Given the description of an element on the screen output the (x, y) to click on. 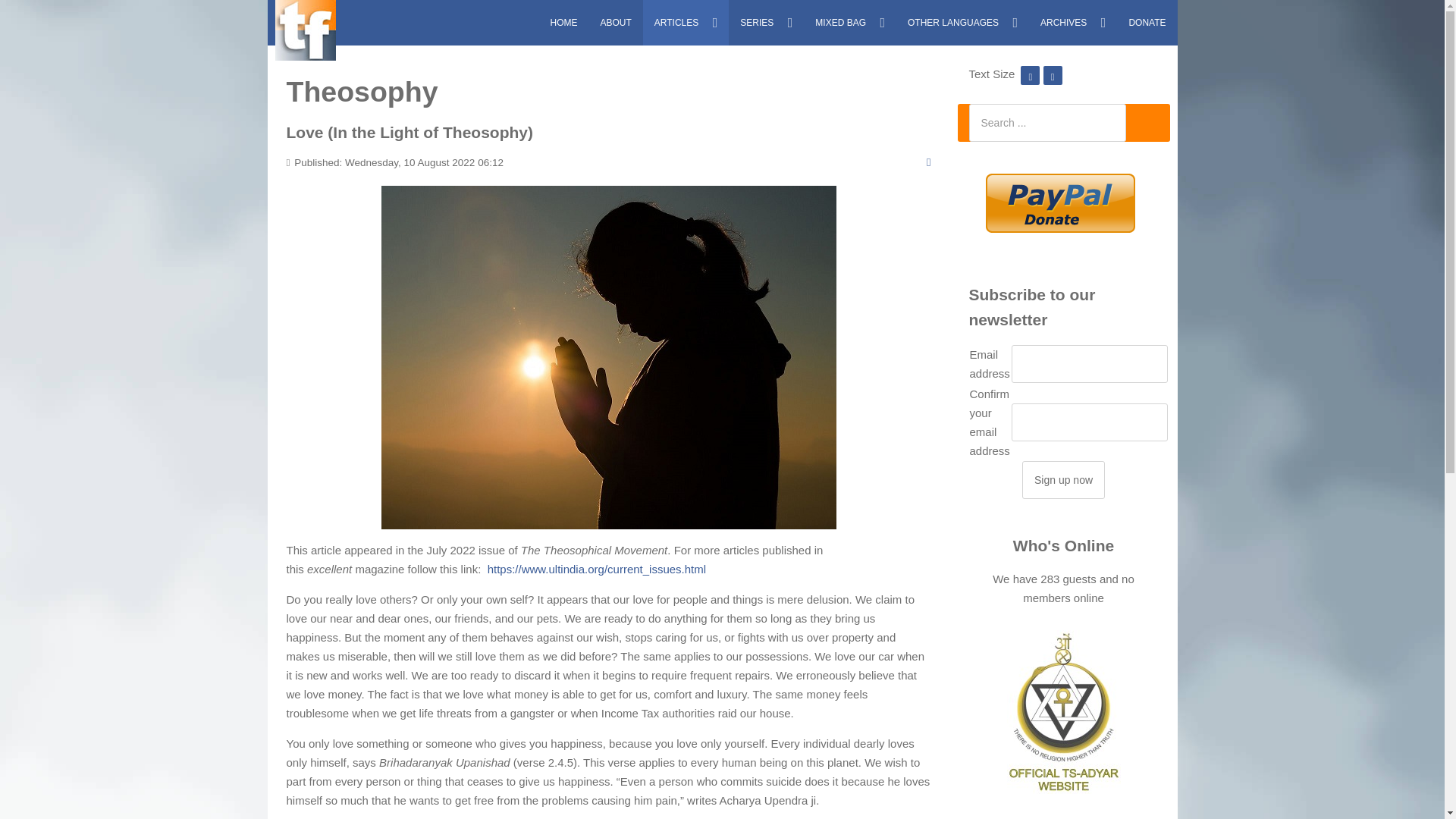
ARTICLES (686, 22)
SERIES (766, 22)
ARCHIVES (1072, 22)
DONATE (1146, 22)
Decrease Font Size (1029, 73)
HOME (563, 22)
Sign up now (1063, 479)
Sign up now (1063, 479)
OTHER LANGUAGES (962, 22)
Increase Font Size (1052, 73)
